Given the description of an element on the screen output the (x, y) to click on. 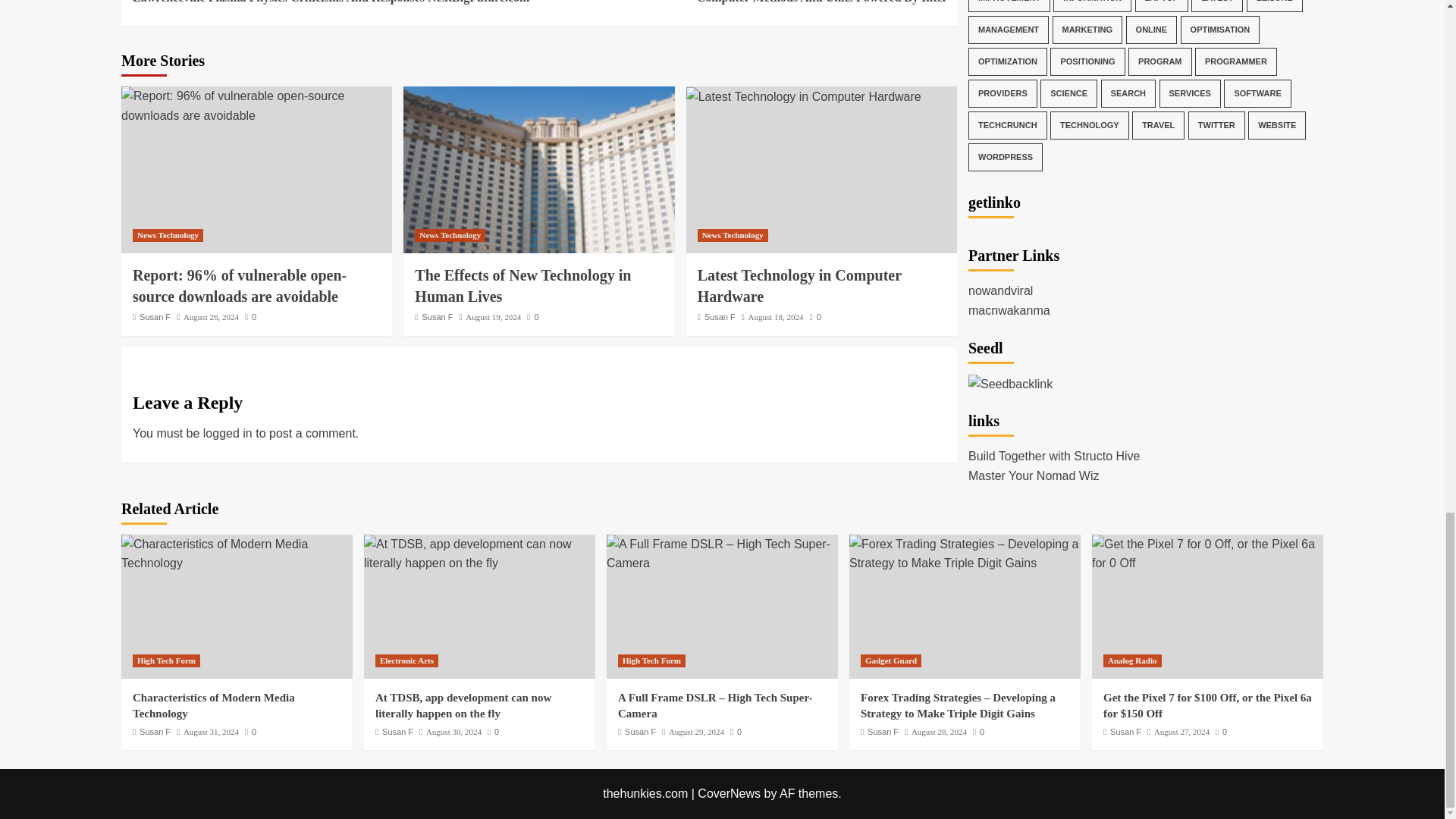
News Technology (449, 235)
Susan F (437, 316)
The Effects of New Technology in Human Lives (522, 285)
The Effects of New Technology in Human Lives (538, 169)
Latest Technology in Computer Hardware (803, 96)
0 (250, 316)
News Technology (741, 3)
0 (167, 235)
